Given the description of an element on the screen output the (x, y) to click on. 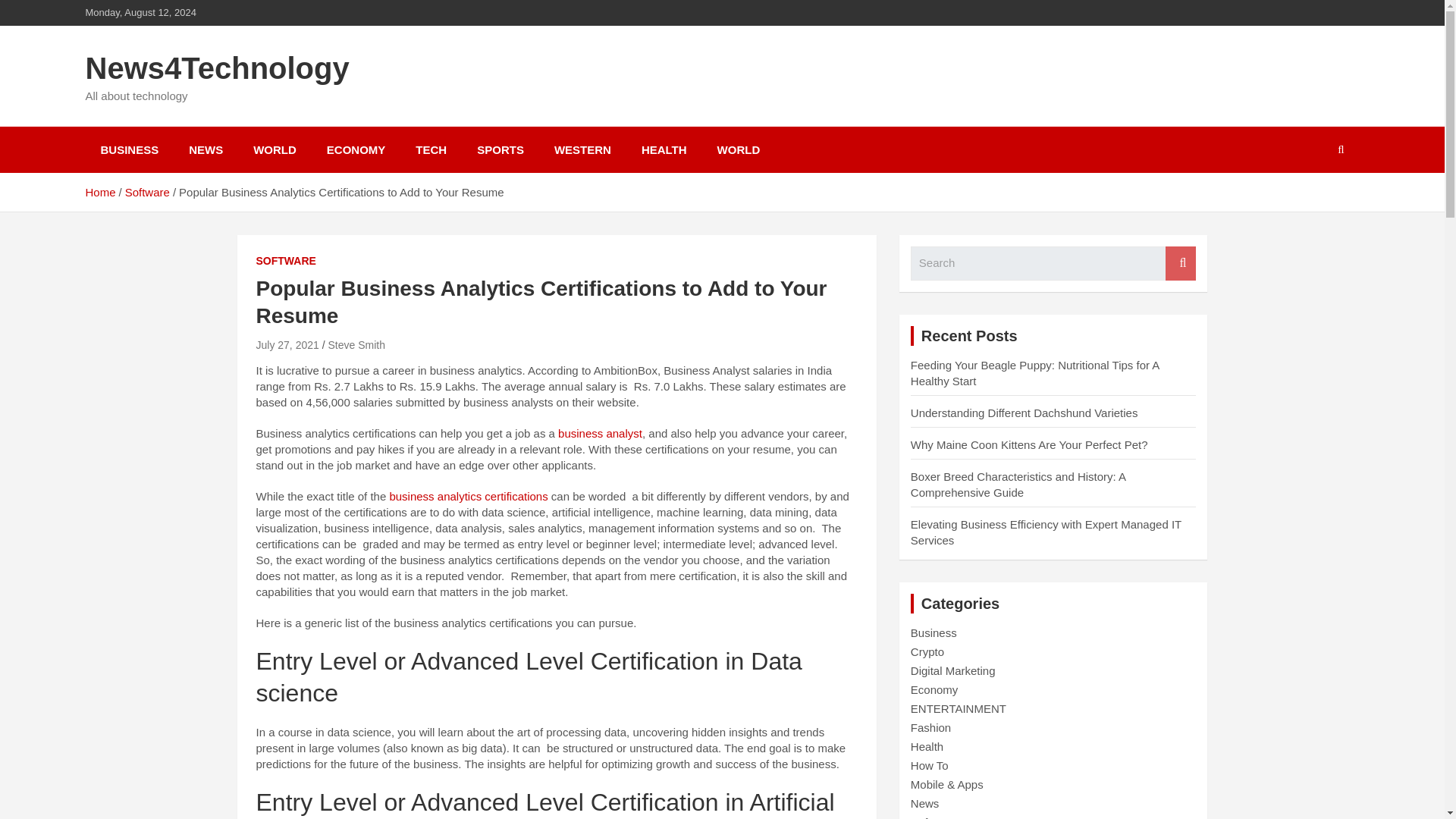
Software (147, 192)
Fashion (930, 727)
business analyst (598, 432)
NEWS (205, 149)
Health (927, 746)
SPORTS (499, 149)
business analytics certifications (467, 495)
Digital Marketing (953, 670)
Search (1180, 263)
